Given the description of an element on the screen output the (x, y) to click on. 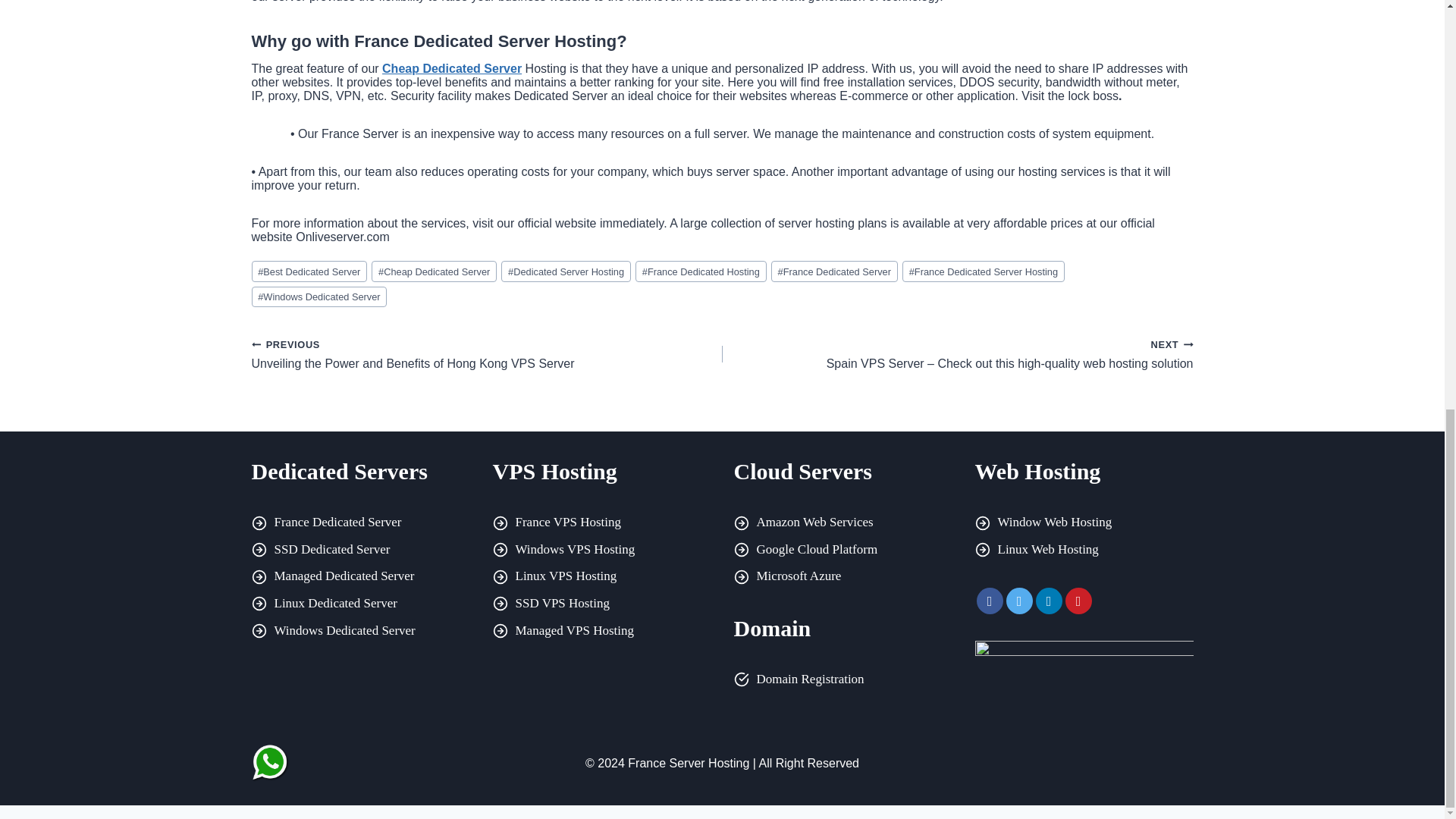
Dedicated Server Hosting (565, 271)
France Dedicated Server Hosting (983, 271)
Windows Dedicated Server (319, 296)
France Dedicated Hosting (699, 271)
Best Dedicated Server (309, 271)
Cheap Dedicated Server (451, 68)
France Dedicated Server (834, 271)
Cheap Dedicated Server (433, 271)
